Given the description of an element on the screen output the (x, y) to click on. 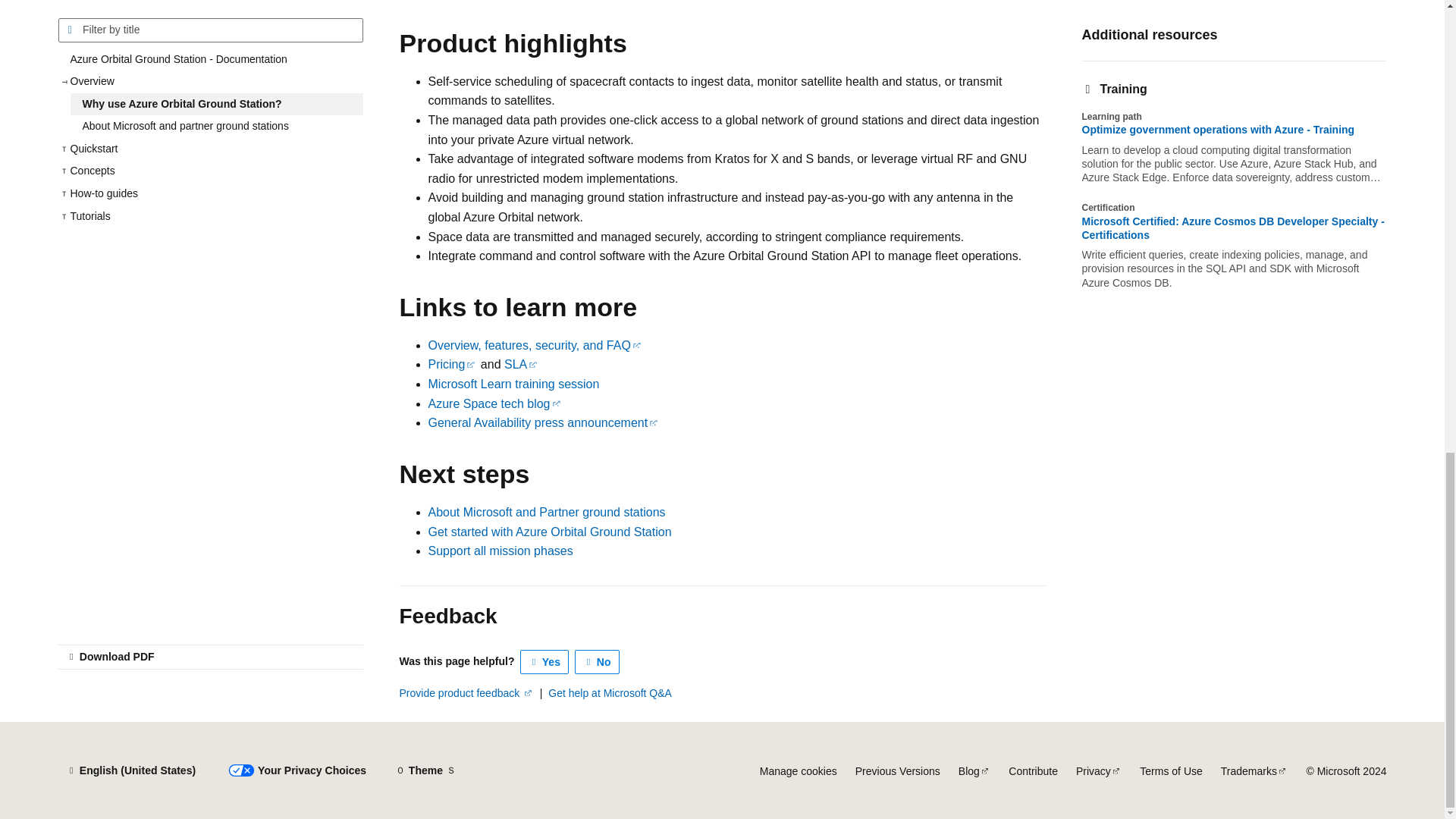
This article is not helpful (597, 662)
Theme (425, 770)
This article is helpful (544, 662)
